Given the description of an element on the screen output the (x, y) to click on. 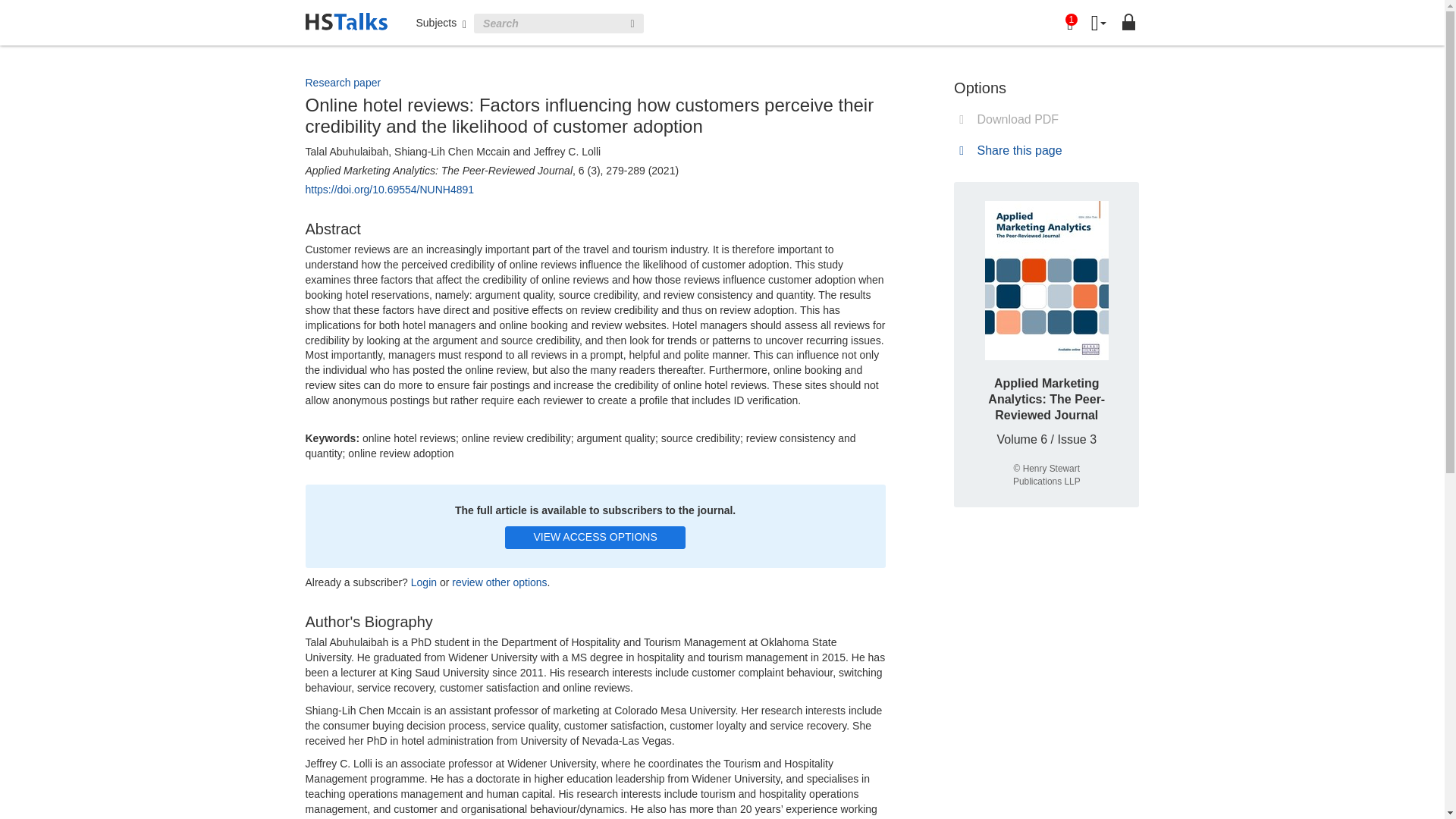
VIEW ACCESS OPTIONS (594, 537)
Login (423, 582)
Search (632, 23)
Share this page (1007, 150)
Download PDF (1005, 119)
Subjects   (439, 22)
User (1098, 23)
review other options (499, 582)
